Given the description of an element on the screen output the (x, y) to click on. 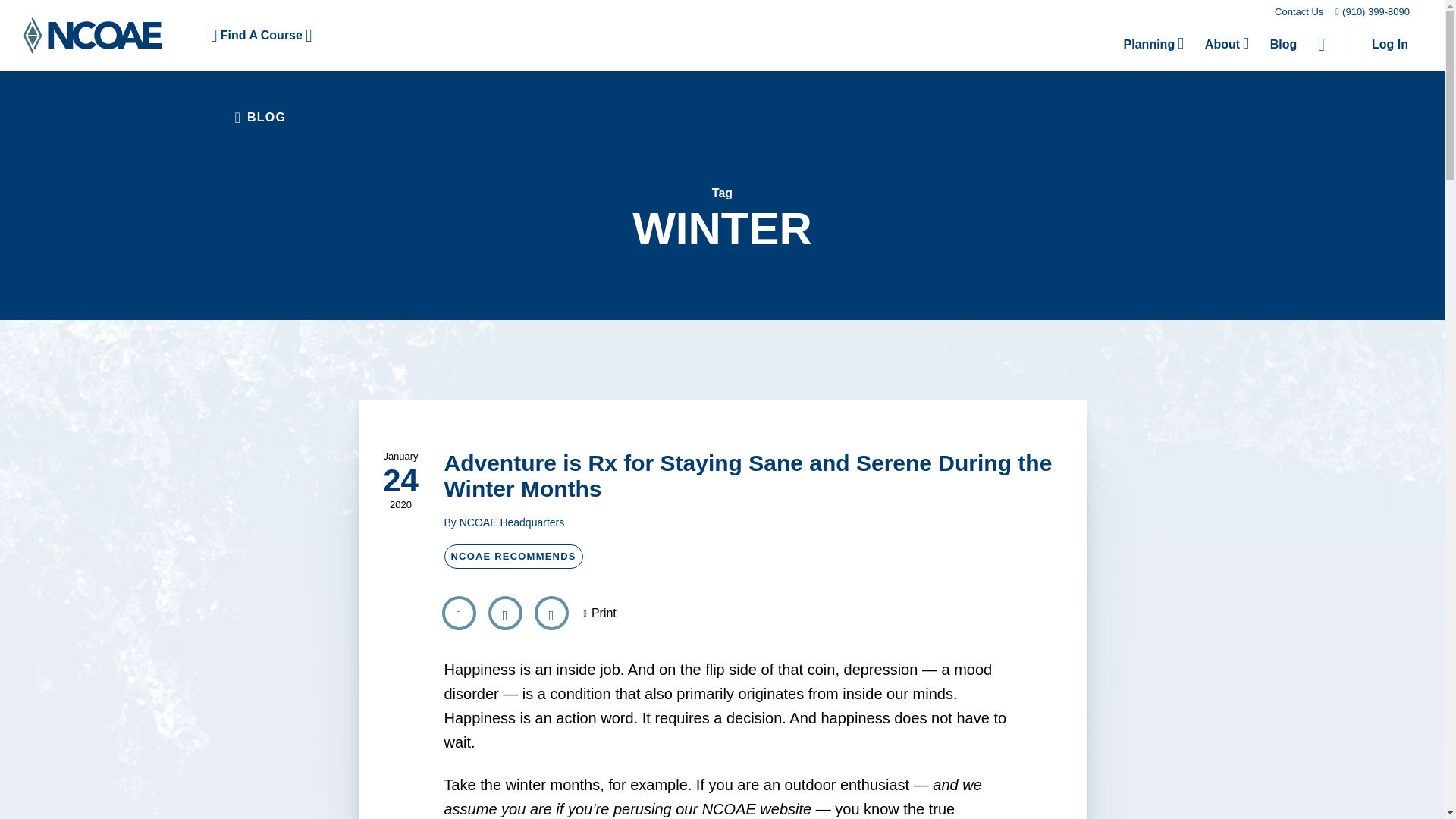
Find A Course (261, 35)
Contact Us (1299, 11)
Planning (1153, 44)
